Given the description of an element on the screen output the (x, y) to click on. 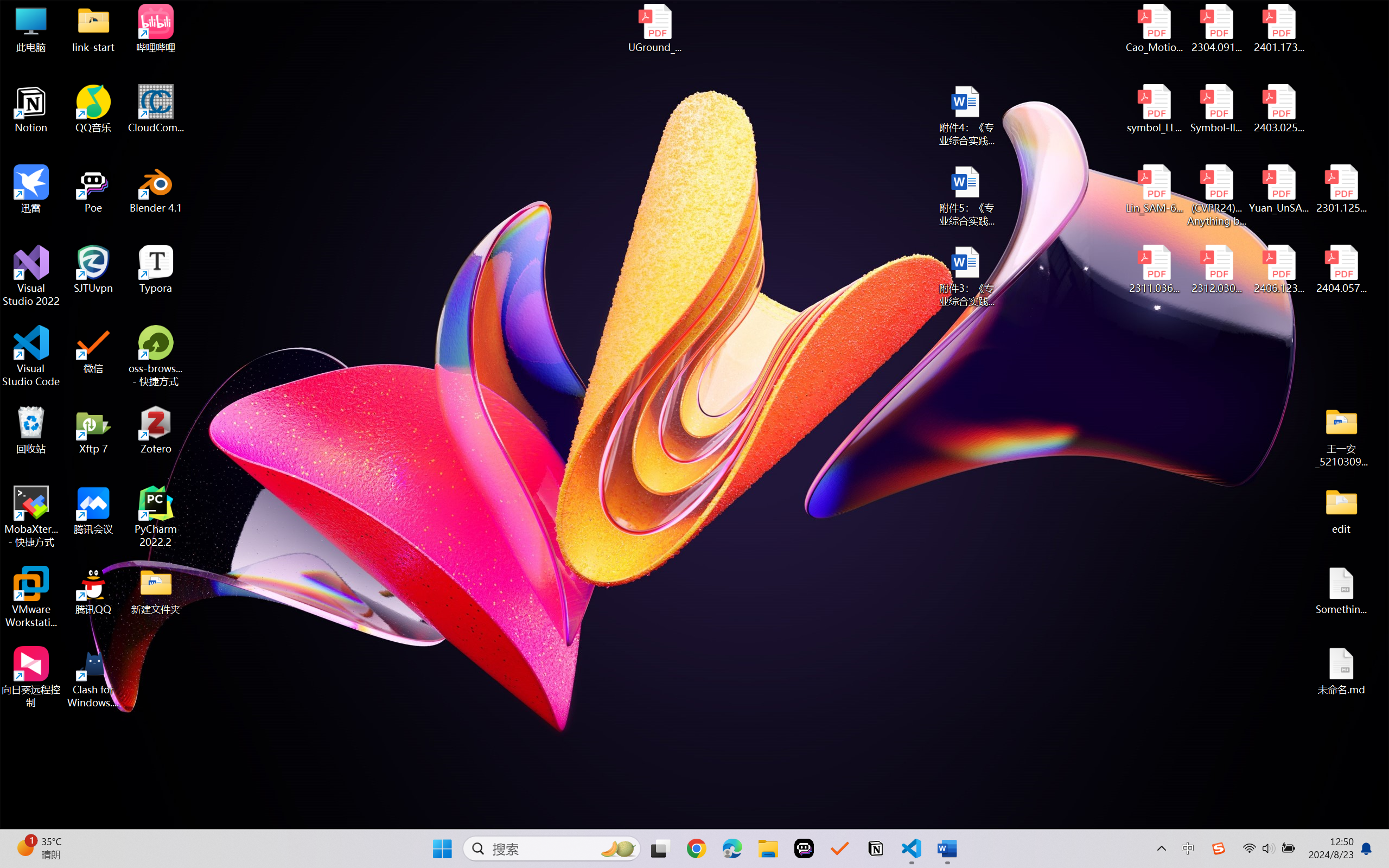
symbol_LLM.pdf (1154, 109)
Typora (156, 269)
2311.03658v2.pdf (1154, 269)
CloudCompare (156, 109)
